Given the description of an element on the screen output the (x, y) to click on. 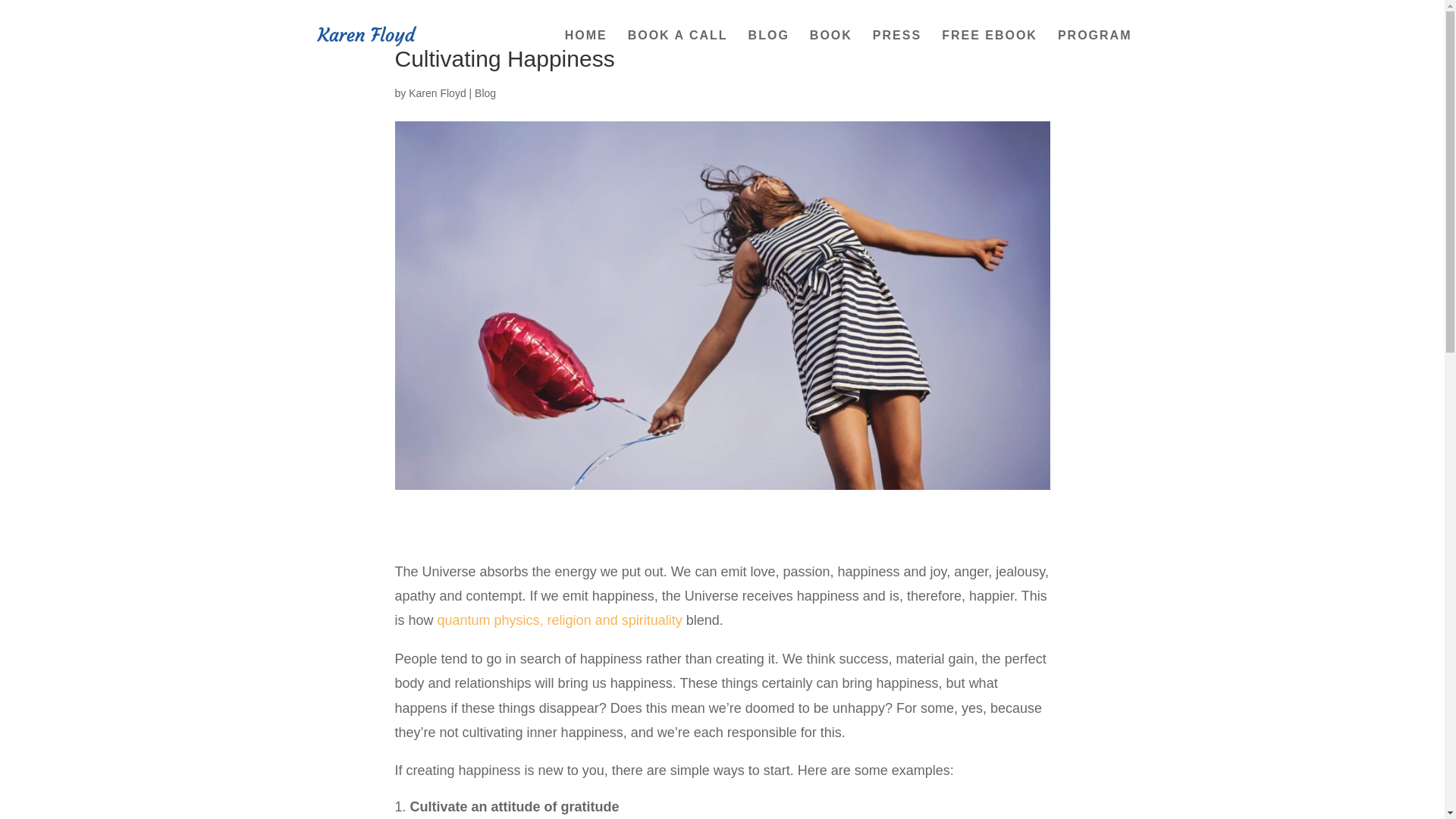
Posts by Karen Floyd (437, 92)
Blog (485, 92)
BOOK (830, 50)
HOME (585, 50)
PRESS (896, 50)
PROGRAM (1095, 50)
BOOK A CALL (677, 50)
quantum physics, religion and spirituality (560, 620)
Karen Floyd (437, 92)
BLOG (768, 50)
